Given the description of an element on the screen output the (x, y) to click on. 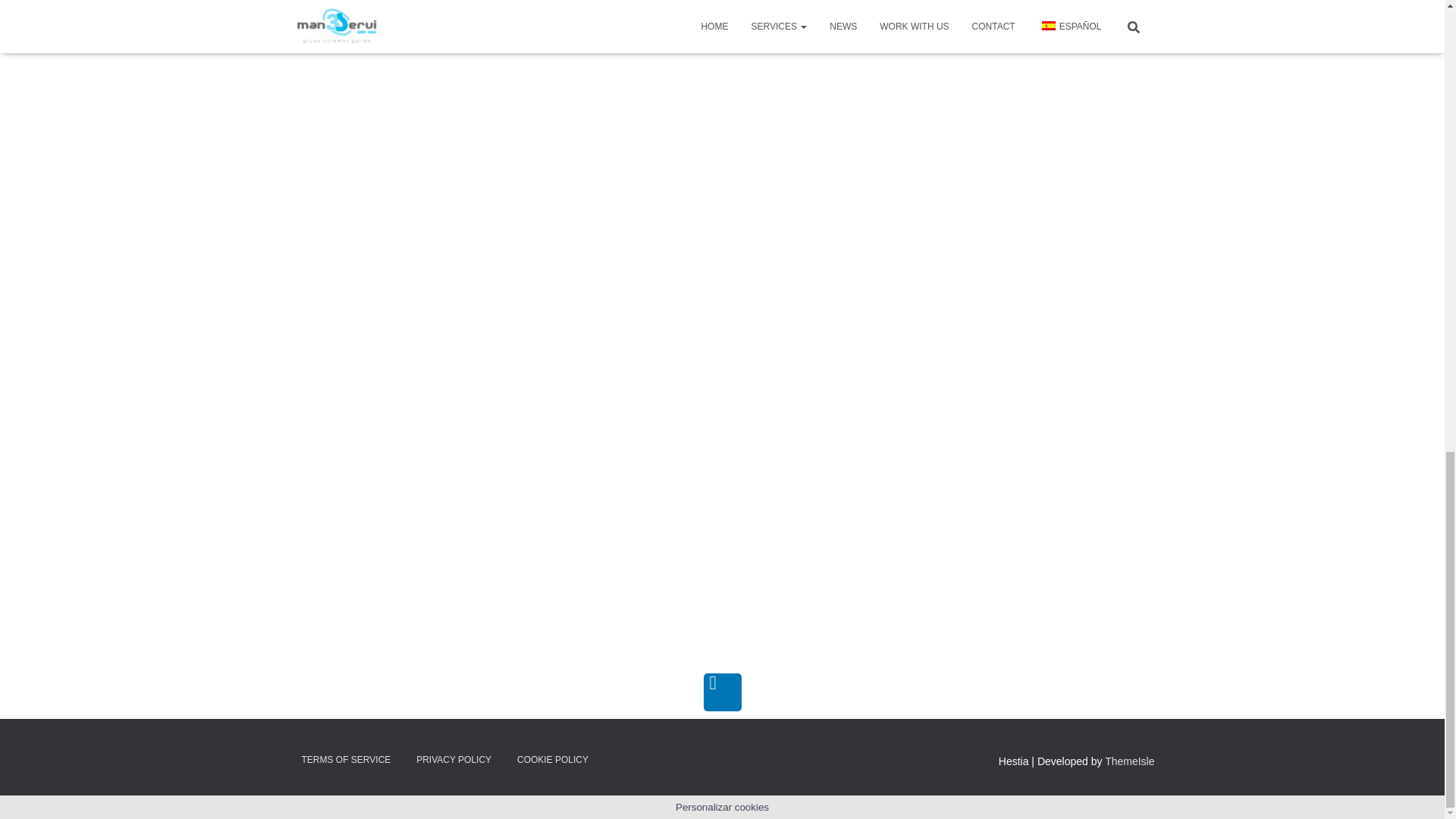
TERMS OF SERVICE (345, 760)
ThemeIsle (1129, 761)
COOKIE POLICY (552, 760)
PRIVACY POLICY (453, 760)
